Given the description of an element on the screen output the (x, y) to click on. 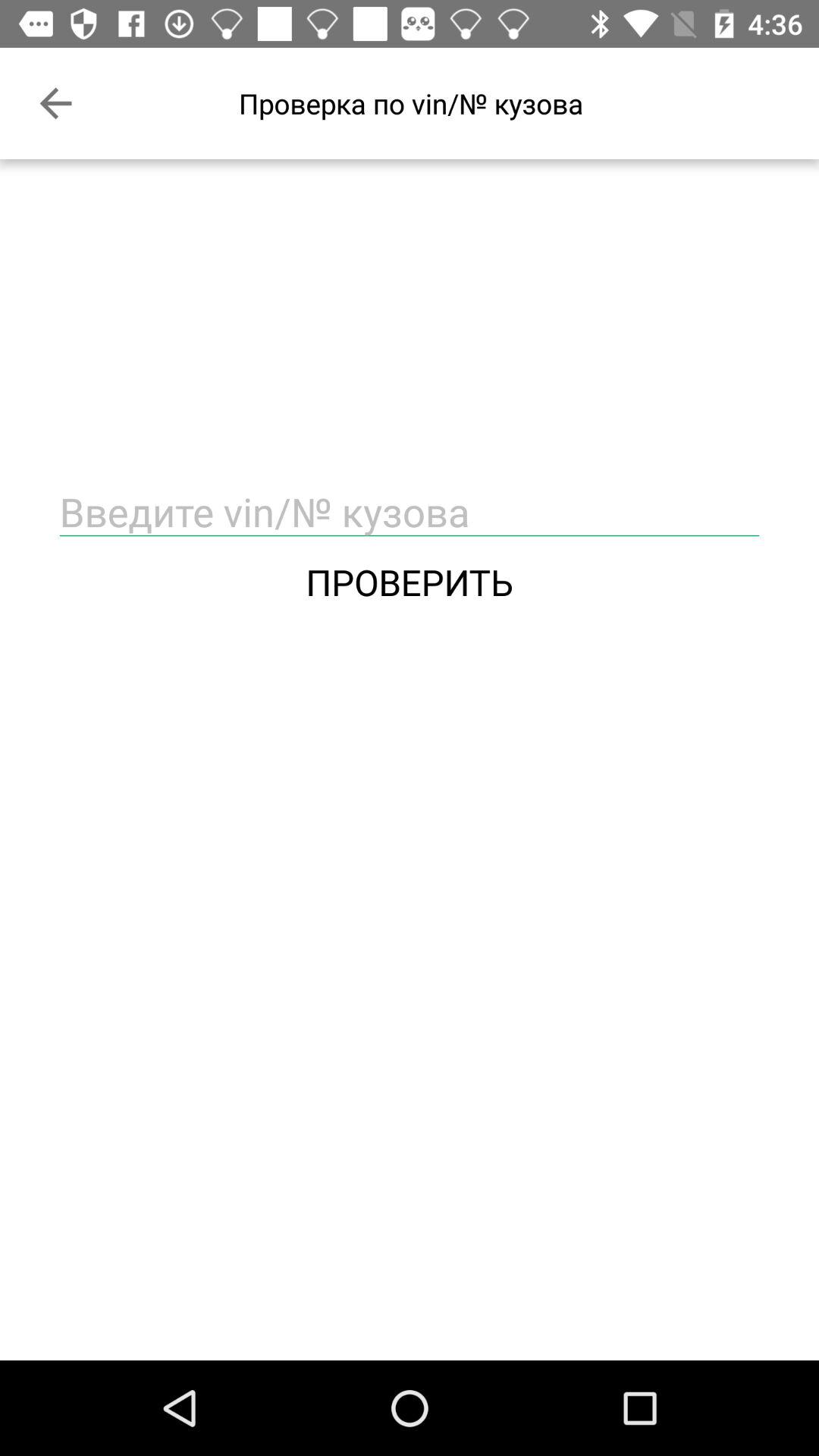
select the item at the top left corner (55, 103)
